Given the description of an element on the screen output the (x, y) to click on. 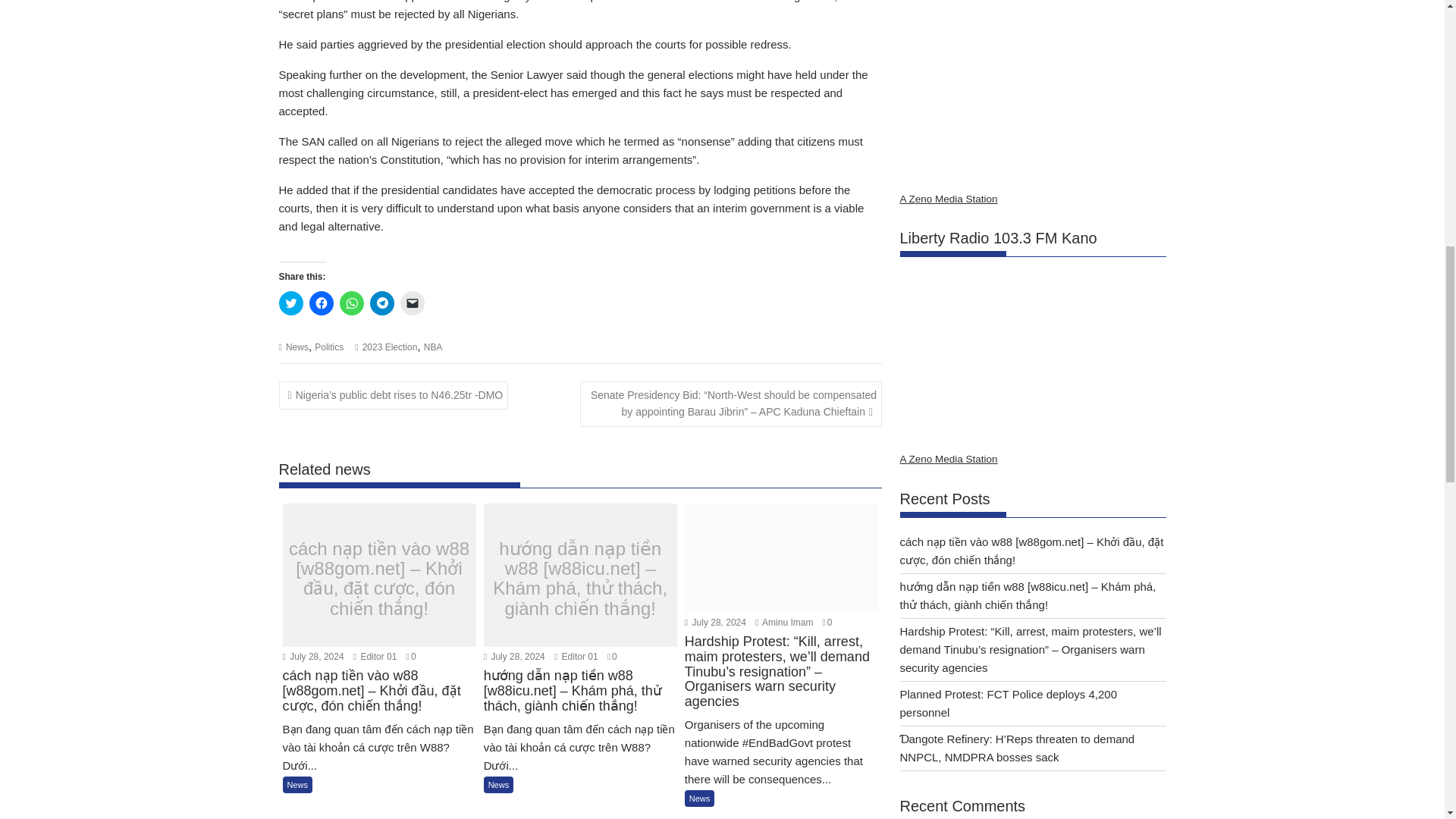
Editor 01 (375, 656)
Click to share on Telegram (381, 303)
Click to share on WhatsApp (351, 303)
Editor 01 (375, 656)
Aminu Imam (783, 622)
Politics (328, 347)
Click to share on Facebook (320, 303)
0 (411, 656)
2023 Election (389, 347)
Click to email a link to a friend (412, 303)
July 28, 2024 (312, 656)
Click to share on Twitter (290, 303)
News (296, 347)
NBA (432, 347)
Editor 01 (576, 656)
